Given the description of an element on the screen output the (x, y) to click on. 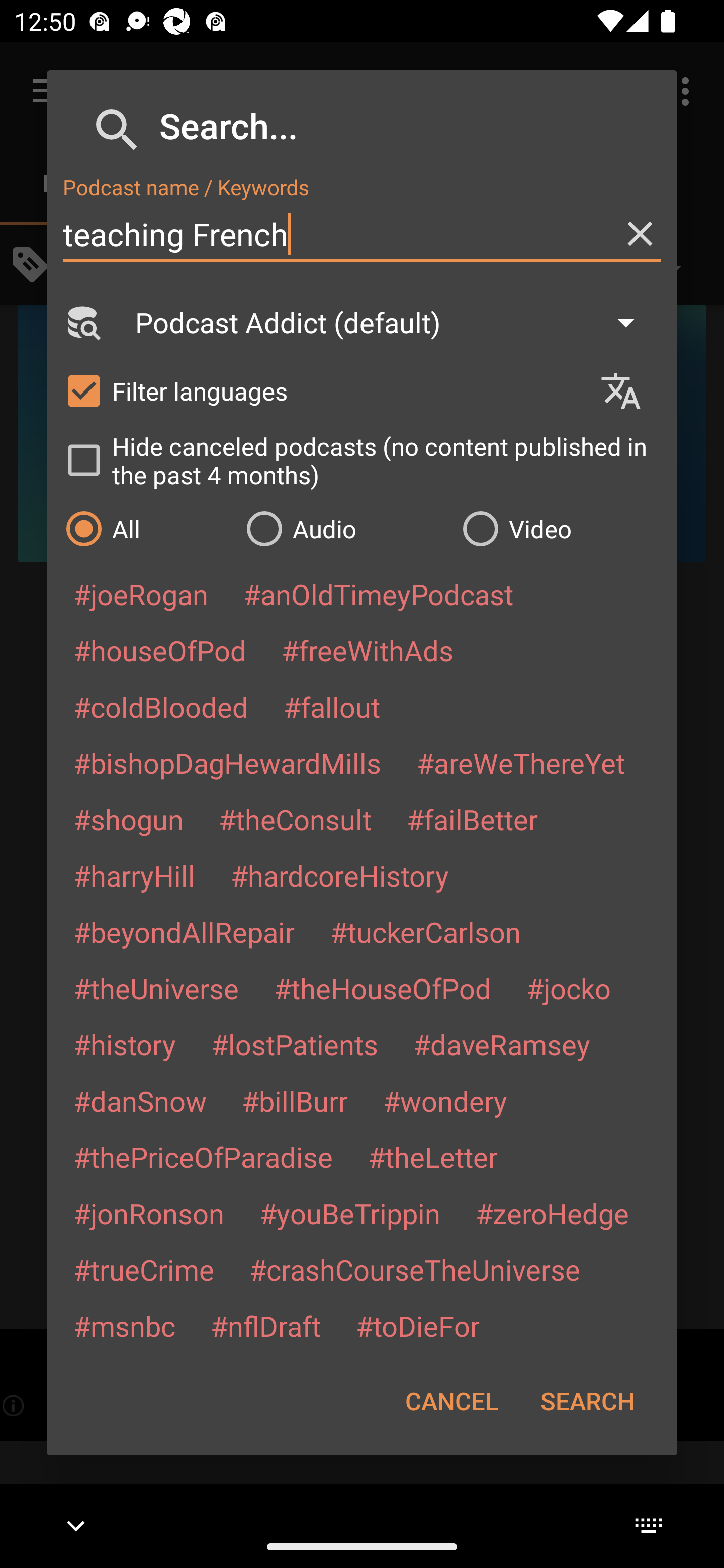
teaching French (361, 234)
Search Engine (82, 322)
Podcast Addict (default) (394, 322)
Languages selection (629, 390)
Filter languages (322, 390)
All (145, 528)
Audio (344, 528)
Video (560, 528)
#joeRogan (140, 594)
#anOldTimeyPodcast (378, 594)
#houseOfPod (159, 650)
#freeWithAds (367, 650)
#coldBlooded (160, 705)
#fallout (331, 705)
#bishopDagHewardMills (227, 762)
#areWeThereYet (521, 762)
#shogun (128, 818)
#theConsult (294, 818)
#failBetter (471, 818)
#harryHill (134, 875)
#hardcoreHistory (339, 875)
#beyondAllRepair (184, 931)
#tuckerCarlson (425, 931)
#theUniverse (155, 987)
#theHouseOfPod (381, 987)
#jocko (568, 987)
#history (124, 1044)
#lostPatients (294, 1044)
#daveRamsey (501, 1044)
#danSnow (139, 1100)
#billBurr (294, 1100)
#wondery (444, 1100)
#thePriceOfParadise (203, 1157)
#theLetter (432, 1157)
#jonRonson (148, 1213)
#youBeTrippin (349, 1213)
#zeroHedge (552, 1213)
#trueCrime (143, 1268)
#crashCourseTheUniverse (414, 1268)
#msnbc (124, 1325)
#nflDraft (265, 1325)
#toDieFor (417, 1325)
CANCEL (451, 1400)
SEARCH (587, 1400)
